Given the description of an element on the screen output the (x, y) to click on. 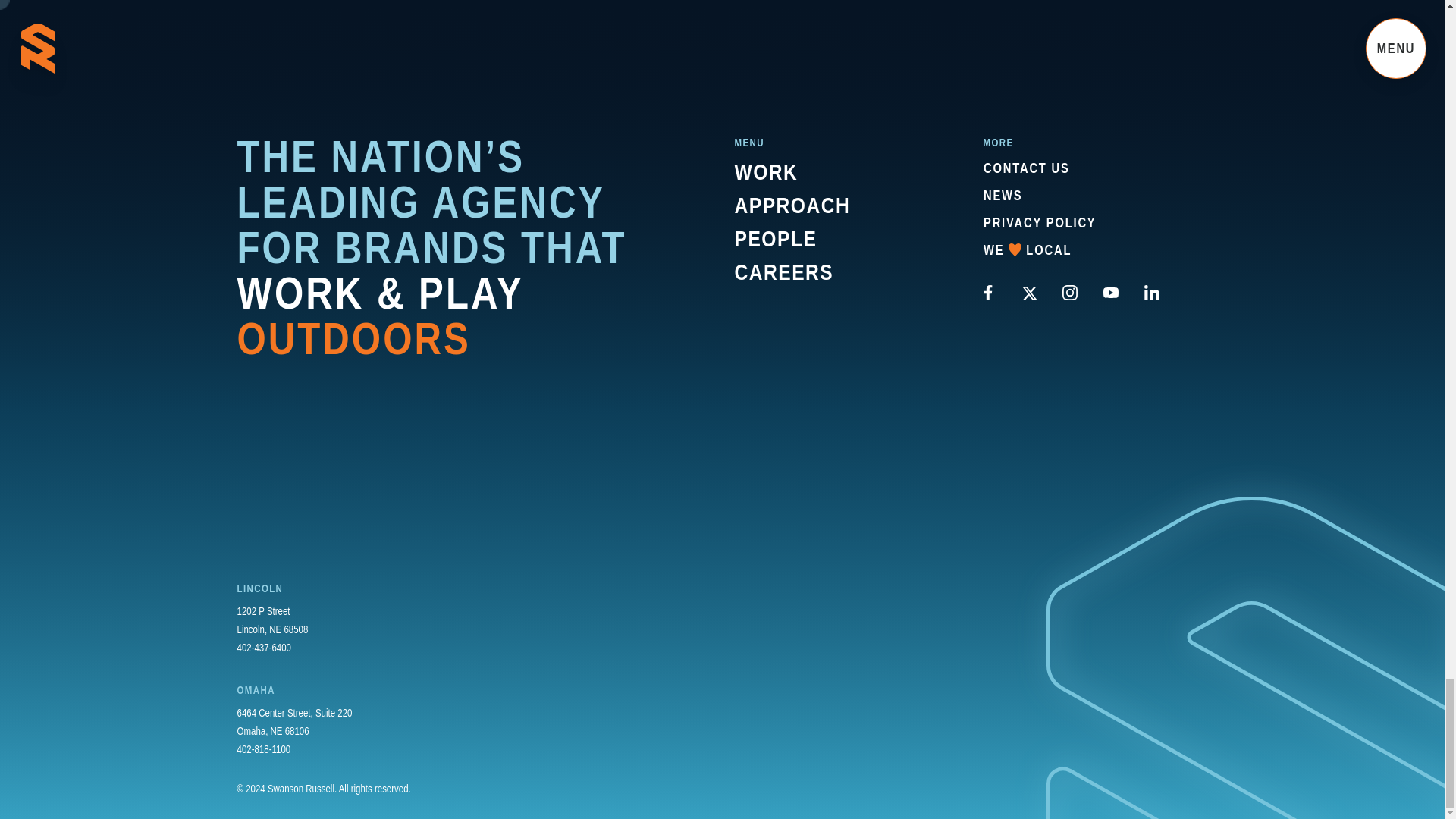
APPROACH (791, 204)
PRIVACY POLICY (1039, 222)
PEOPLE (774, 237)
402-818-1100 (262, 749)
CAREERS (782, 271)
WORK (765, 171)
402-437-6400 (263, 647)
NEWS (1026, 250)
CONTACT US (1002, 195)
